Given the description of an element on the screen output the (x, y) to click on. 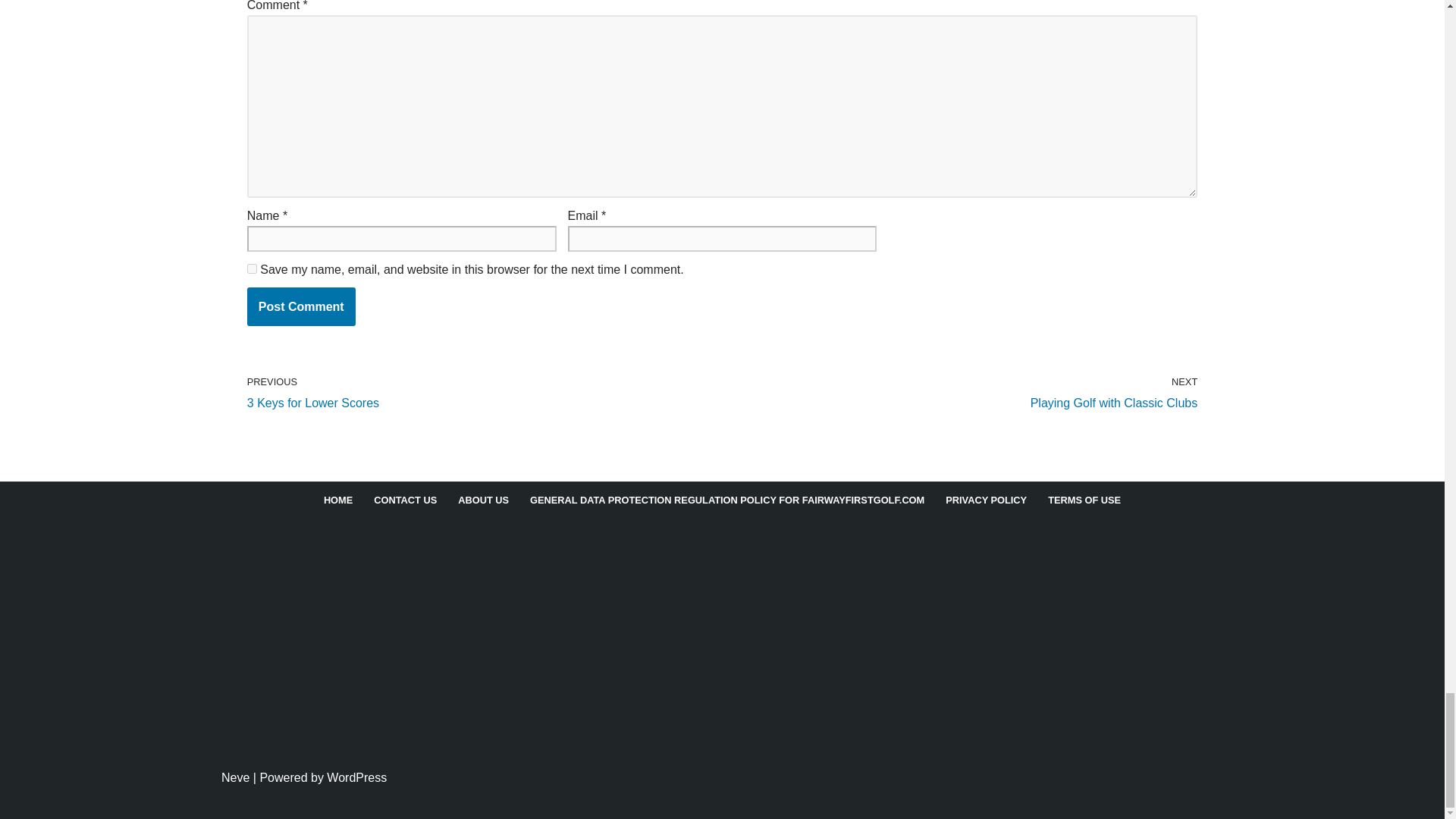
Post Comment (301, 306)
yes (252, 268)
Post Comment (301, 306)
